Given the description of an element on the screen output the (x, y) to click on. 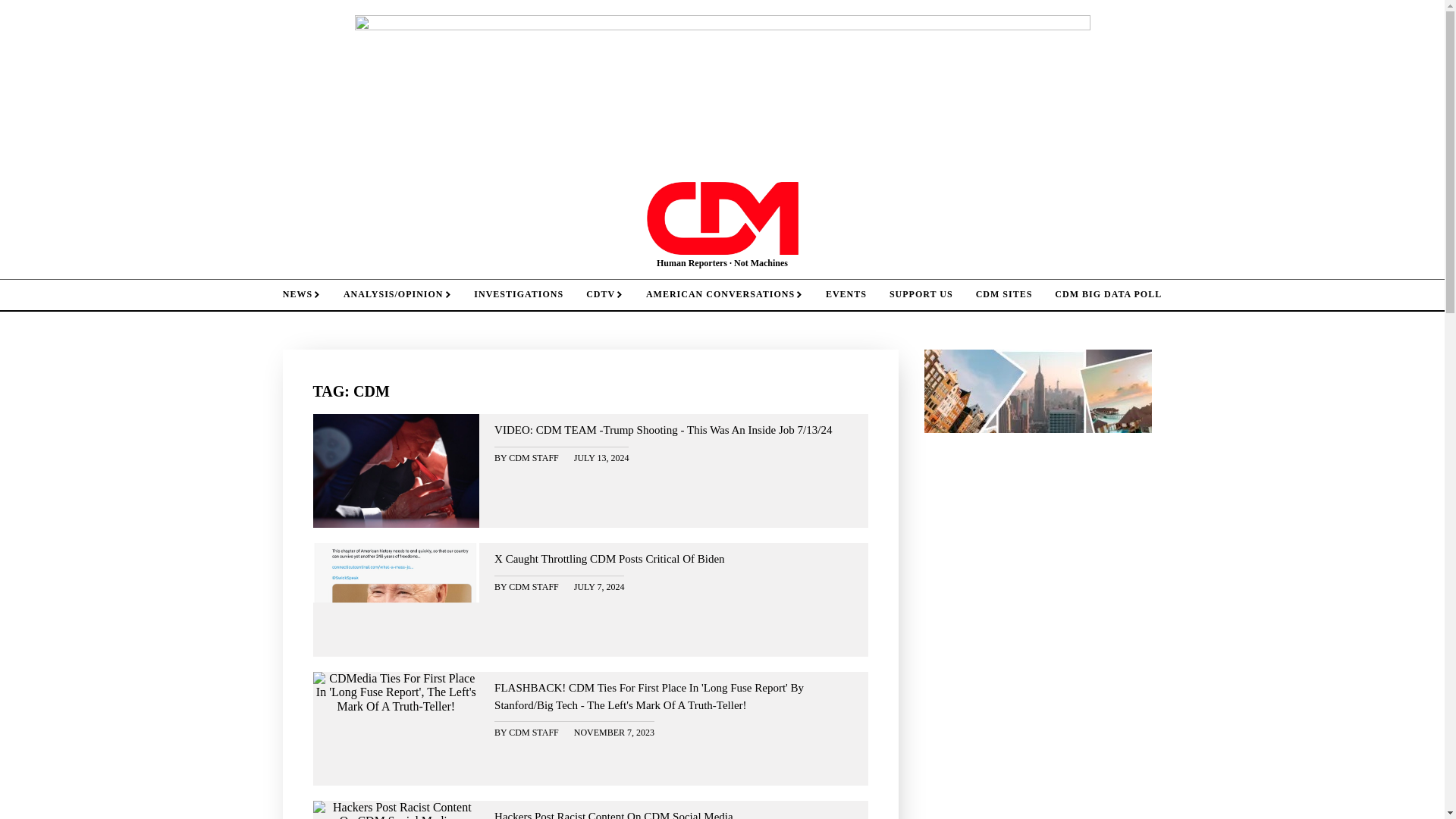
INVESTIGATIONS (519, 294)
NEWS (300, 294)
CDTV (604, 294)
AMERICAN CONVERSATIONS (723, 294)
